Given the description of an element on the screen output the (x, y) to click on. 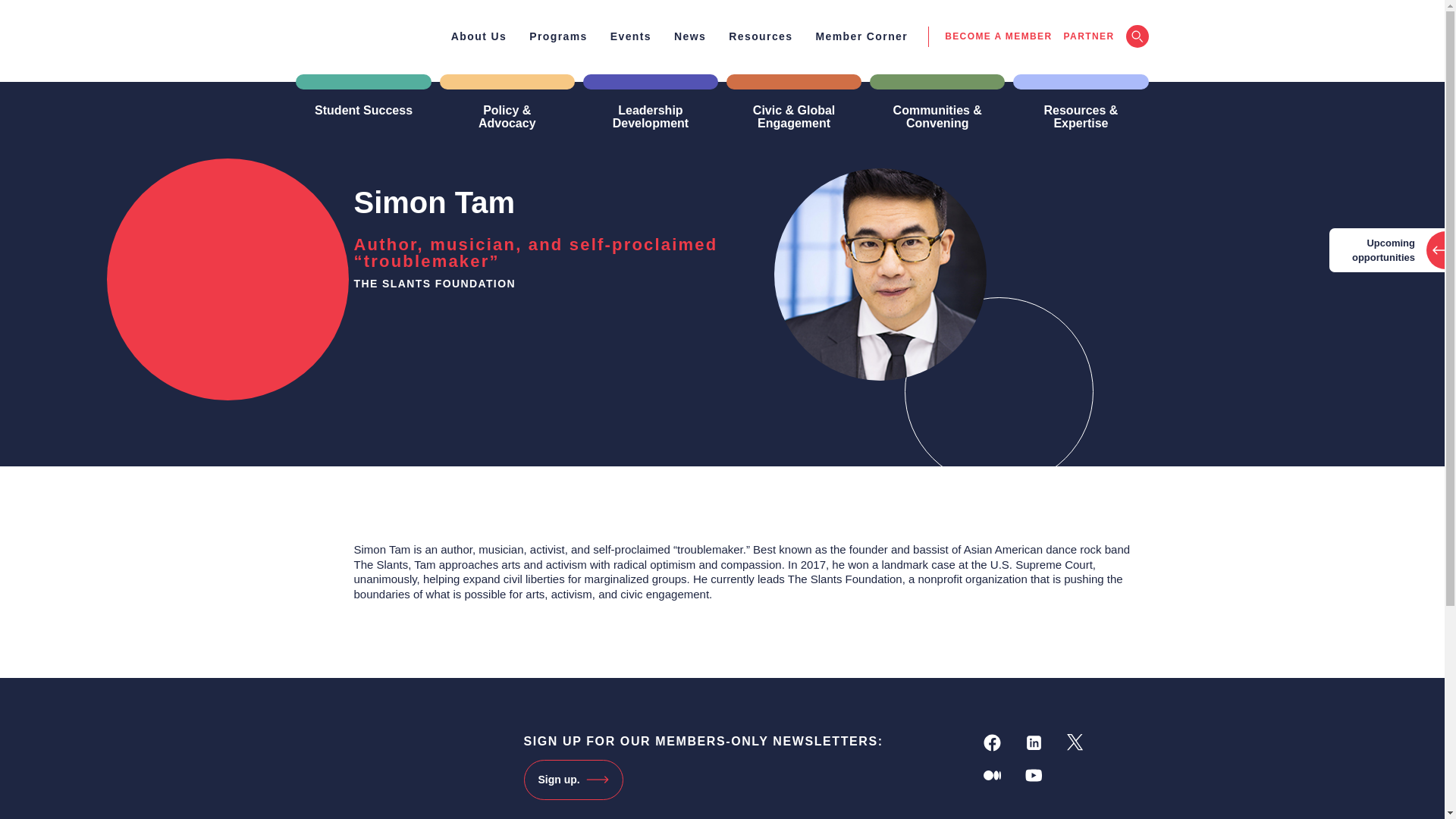
Events (630, 36)
Follow us on YouTube (1034, 774)
Resources (760, 36)
News (689, 36)
Programs (558, 36)
Follow us on LinkedIn (1034, 742)
About Us (478, 36)
Follow us on Medium (991, 774)
Follow us on Facebook (991, 742)
Follow us on Twitter (1074, 742)
